Given the description of an element on the screen output the (x, y) to click on. 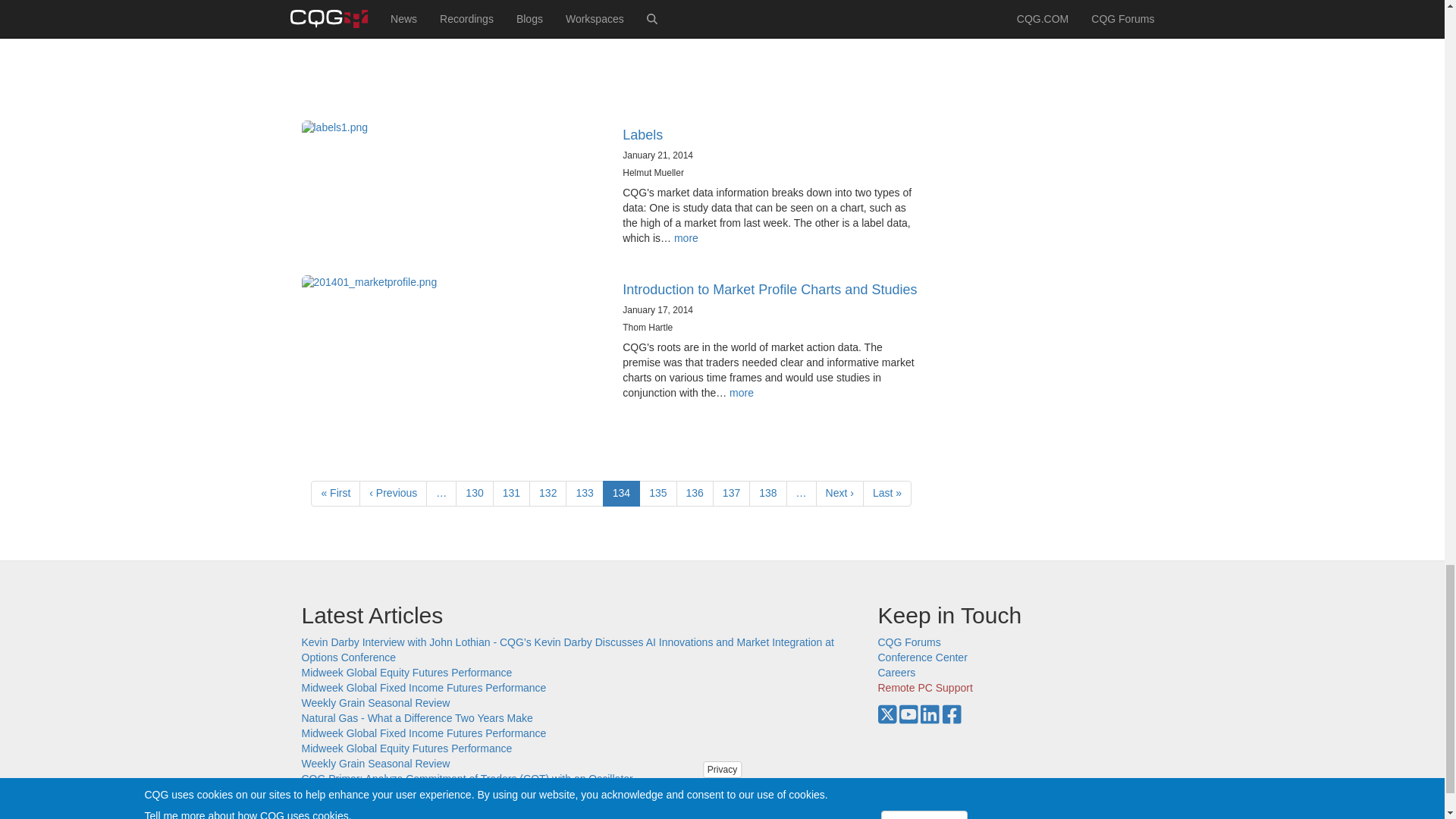
more (686, 237)
Go to next page (839, 493)
Go to previous page (392, 493)
more (741, 392)
Go to page 132 (547, 493)
Labels (642, 134)
Go to page 137 (731, 493)
Go to last page (887, 493)
Go to page 130 (474, 493)
Go to page 135 (658, 493)
Go to page 138 (767, 493)
Introduction to Market Profile Charts and Studies (770, 289)
Current page (621, 493)
Go to first page (335, 493)
Go to page 136 (695, 493)
